Given the description of an element on the screen output the (x, y) to click on. 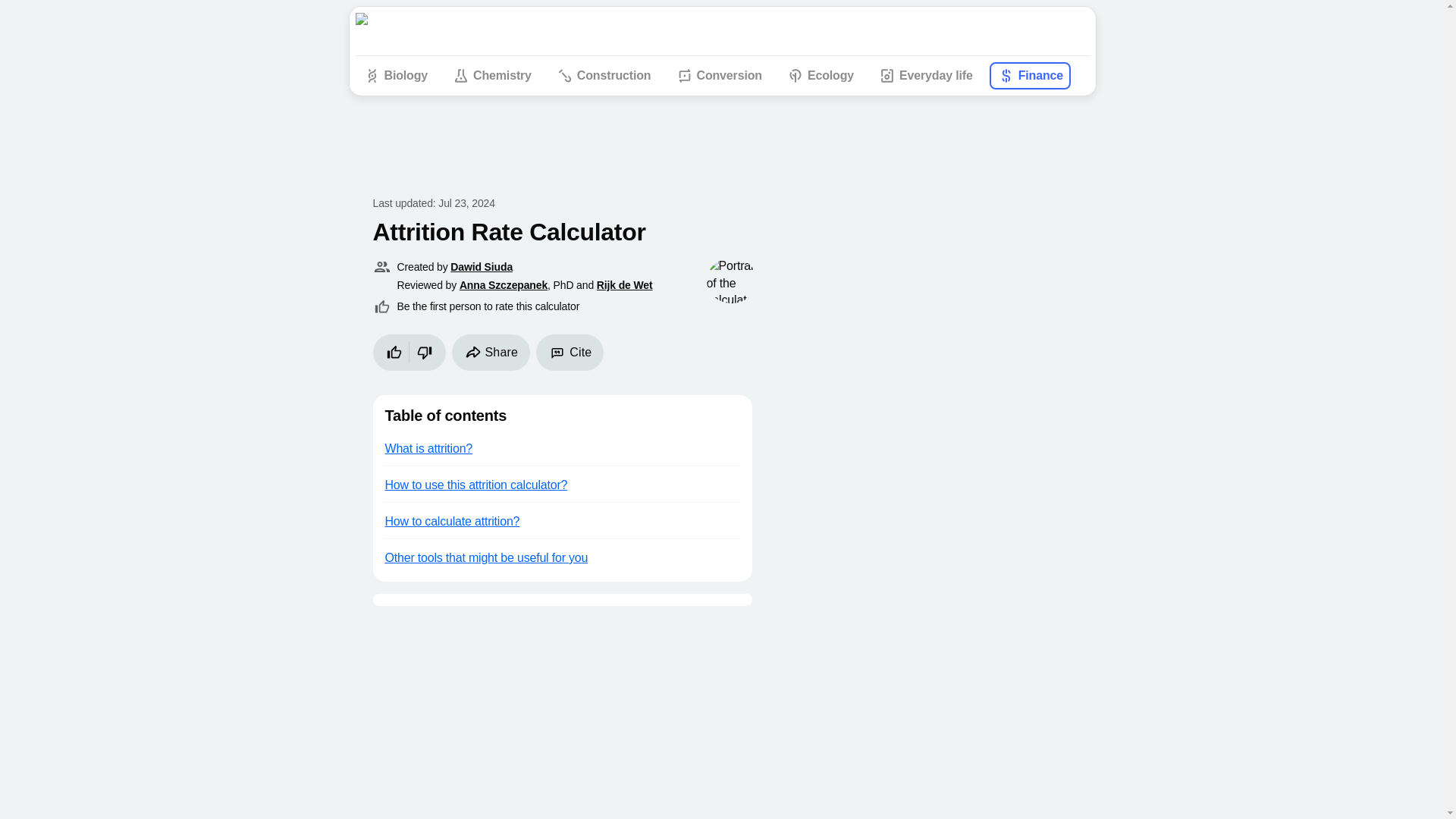
Everyday life (924, 75)
Cite (569, 352)
Other tools that might be useful for you (561, 556)
Biology (395, 75)
How to use this attrition calculator? (561, 484)
Construction (603, 75)
How to calculate attrition? (561, 520)
What is attrition? (561, 447)
Share (491, 352)
Finance (1030, 75)
Chemistry (491, 75)
Ecology (819, 75)
Conversion (717, 75)
